Given the description of an element on the screen output the (x, y) to click on. 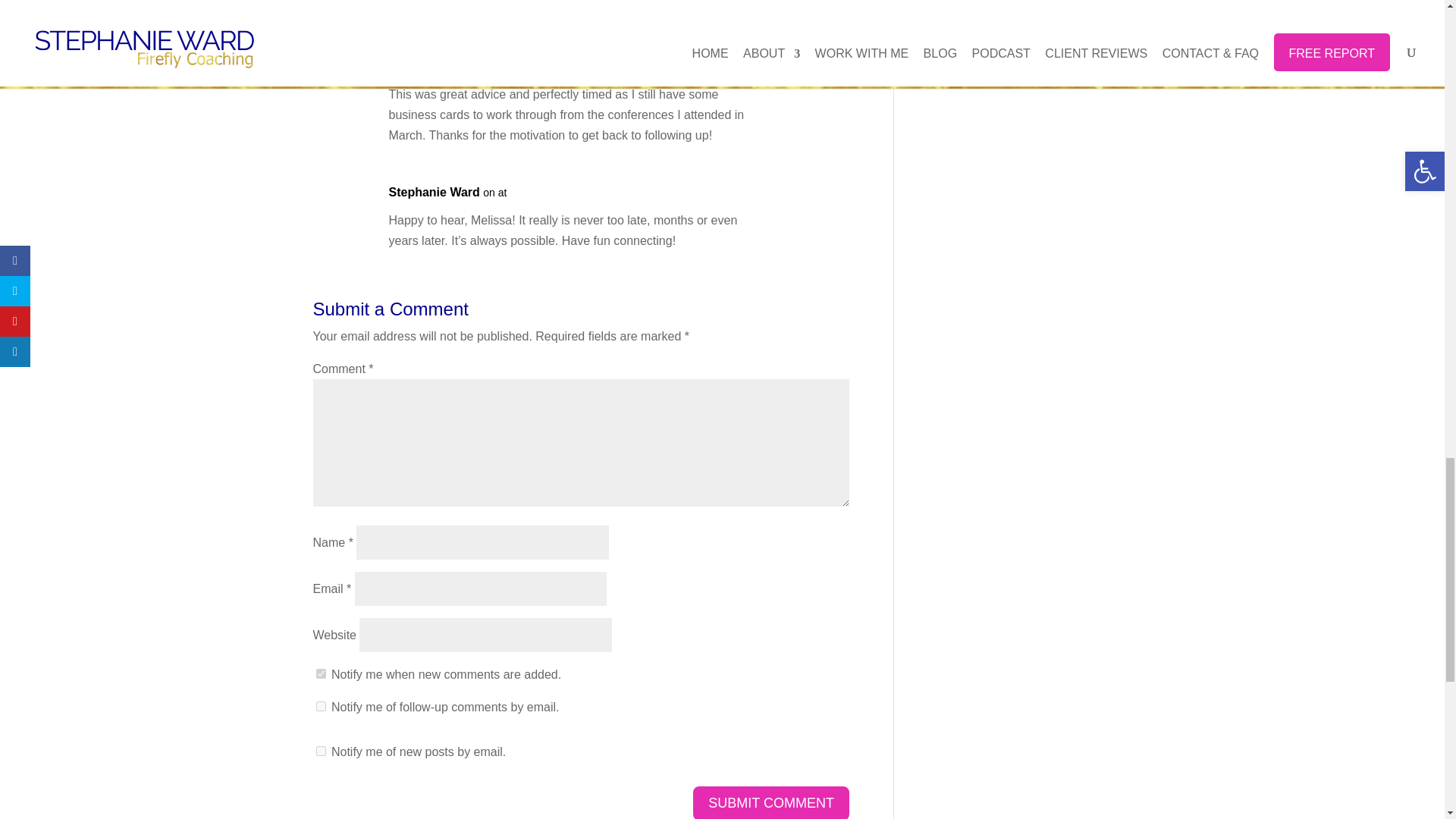
Stephanie Ward (433, 191)
Submit Comment (770, 802)
subscribe (319, 706)
Melissa Parks (428, 66)
subscribe (319, 750)
Submit Comment (770, 802)
1 (319, 673)
